Given the description of an element on the screen output the (x, y) to click on. 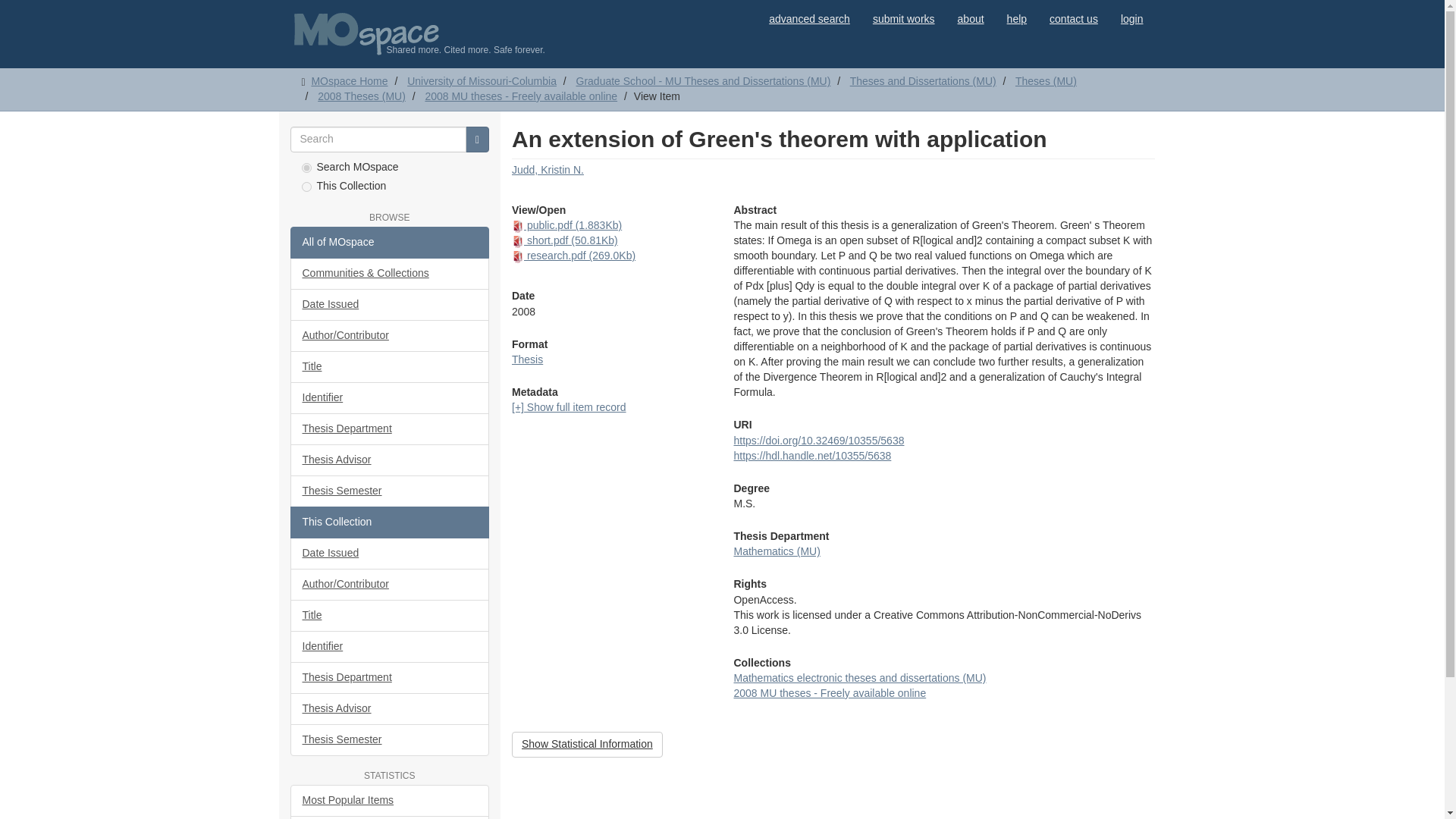
Date Issued (389, 305)
Title (389, 367)
PDF file (518, 226)
advanced search (809, 18)
Search (477, 139)
2008 MU theses - Freely available online (521, 96)
Identifier (389, 398)
Thesis Advisor (389, 459)
All of MOspace (389, 242)
login (1131, 18)
Thesis Department (389, 429)
contact us (1073, 18)
University of Missouri-Columbia (481, 80)
about (970, 18)
help (1016, 18)
